Given the description of an element on the screen output the (x, y) to click on. 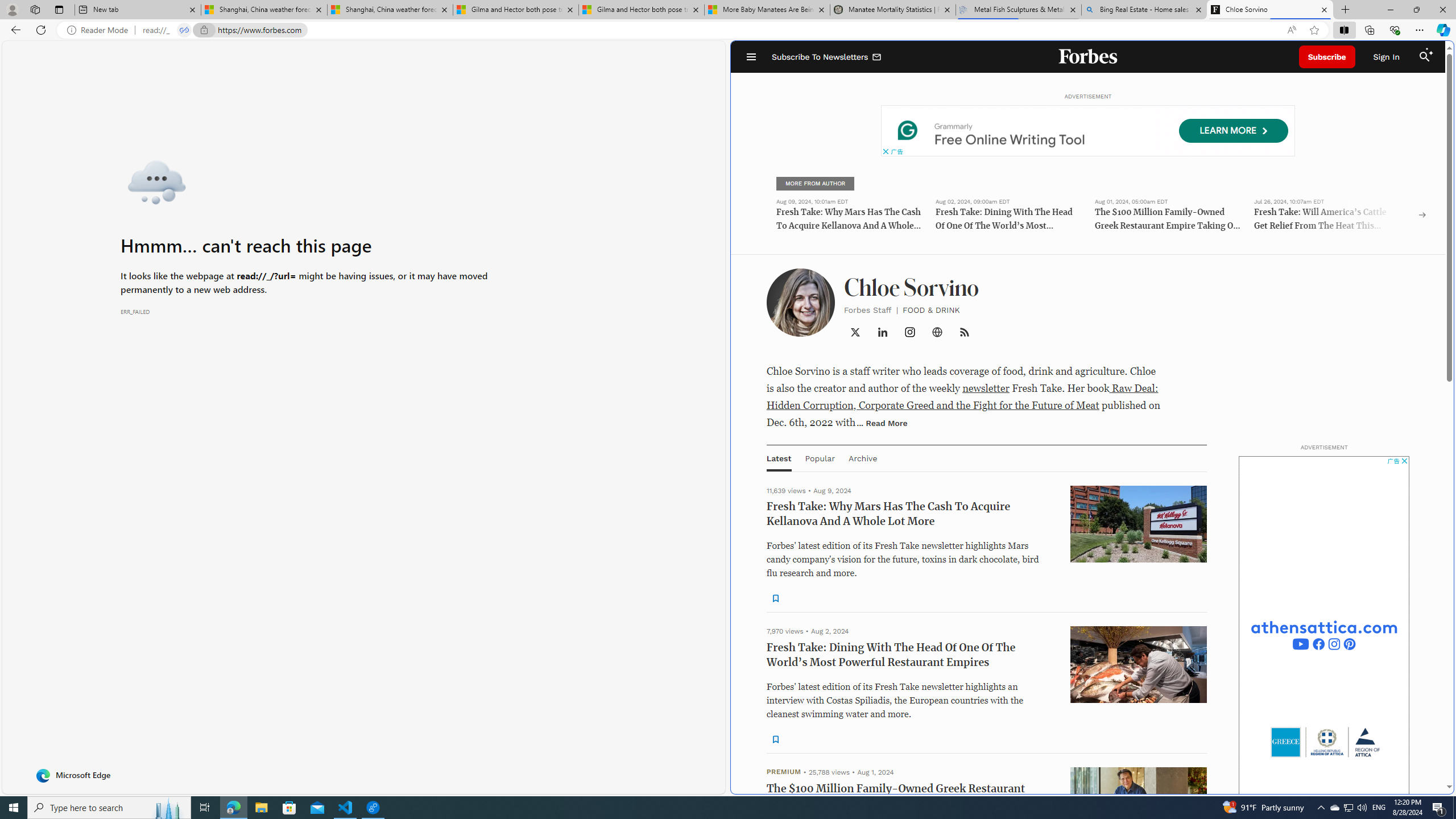
Subscribe To Newsletters (826, 56)
Class: envelope_svg__fs-icon envelope_svg__fs-icon--envelope (877, 57)
Tabs in split screen (184, 29)
Class: sElHJWe4 NQX0jJYe (774, 738)
Class: _4mQLn (937, 331)
Forbes Logo (1088, 56)
Latest (778, 457)
Popular (819, 457)
Class: sparkles_svg__fs-icon sparkles_svg__fs-icon--sparkles (1430, 51)
Class: VGJkz (963, 331)
